Given the description of an element on the screen output the (x, y) to click on. 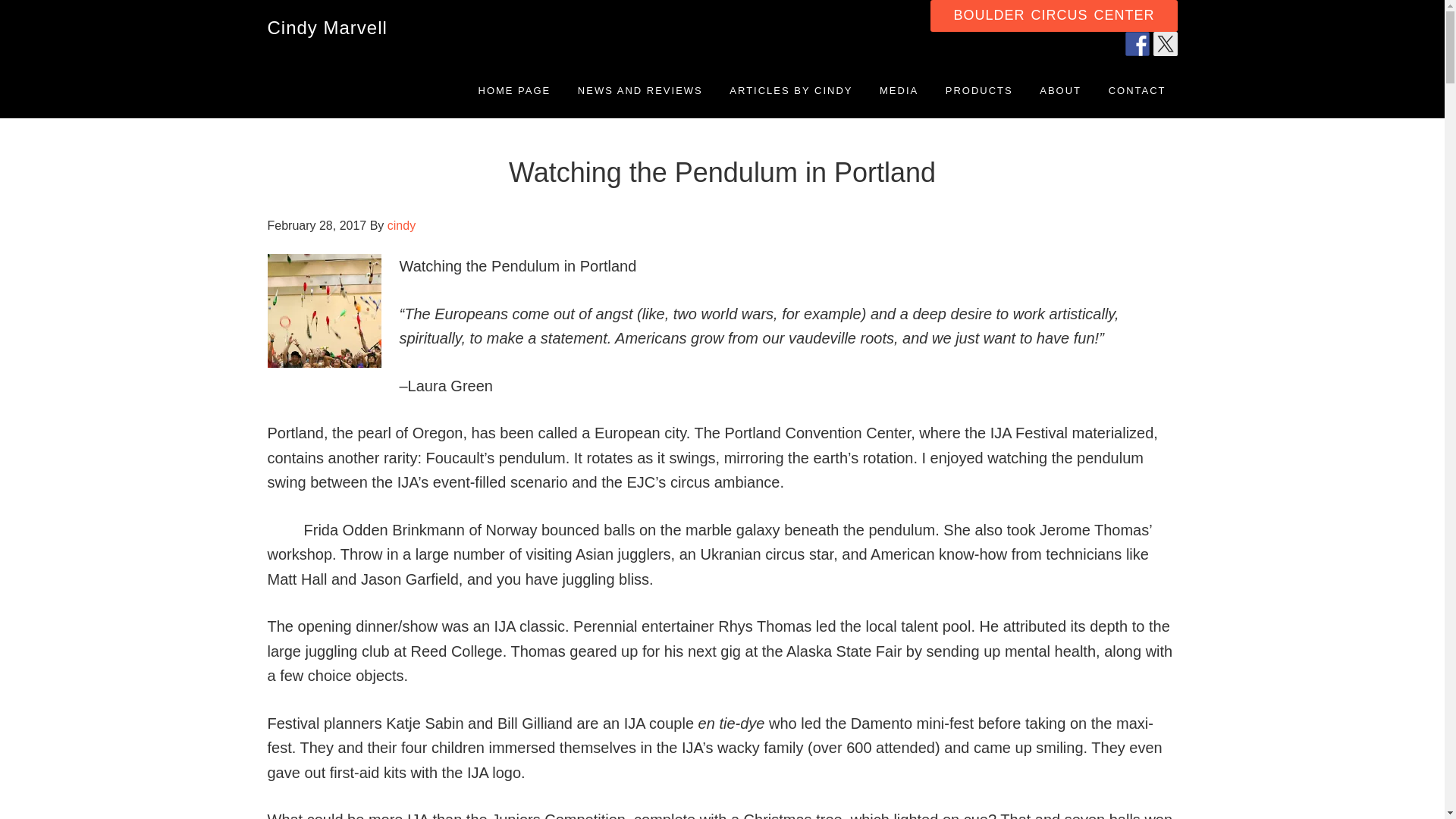
HOME PAGE (514, 90)
ARTICLES BY CINDY (790, 90)
PRODUCTS (979, 90)
Share (1137, 43)
MEDIA (898, 90)
Cindy Marvell (326, 27)
NEWS AND REVIEWS (640, 90)
Watching the Pendulum in Portland (722, 172)
CONTACT (1137, 90)
cindy (400, 225)
BOULDER CIRCUS CENTER (1053, 13)
BOULDER CIRCUS CENTER (1053, 15)
ABOUT (1060, 90)
Share (1164, 43)
